Given the description of an element on the screen output the (x, y) to click on. 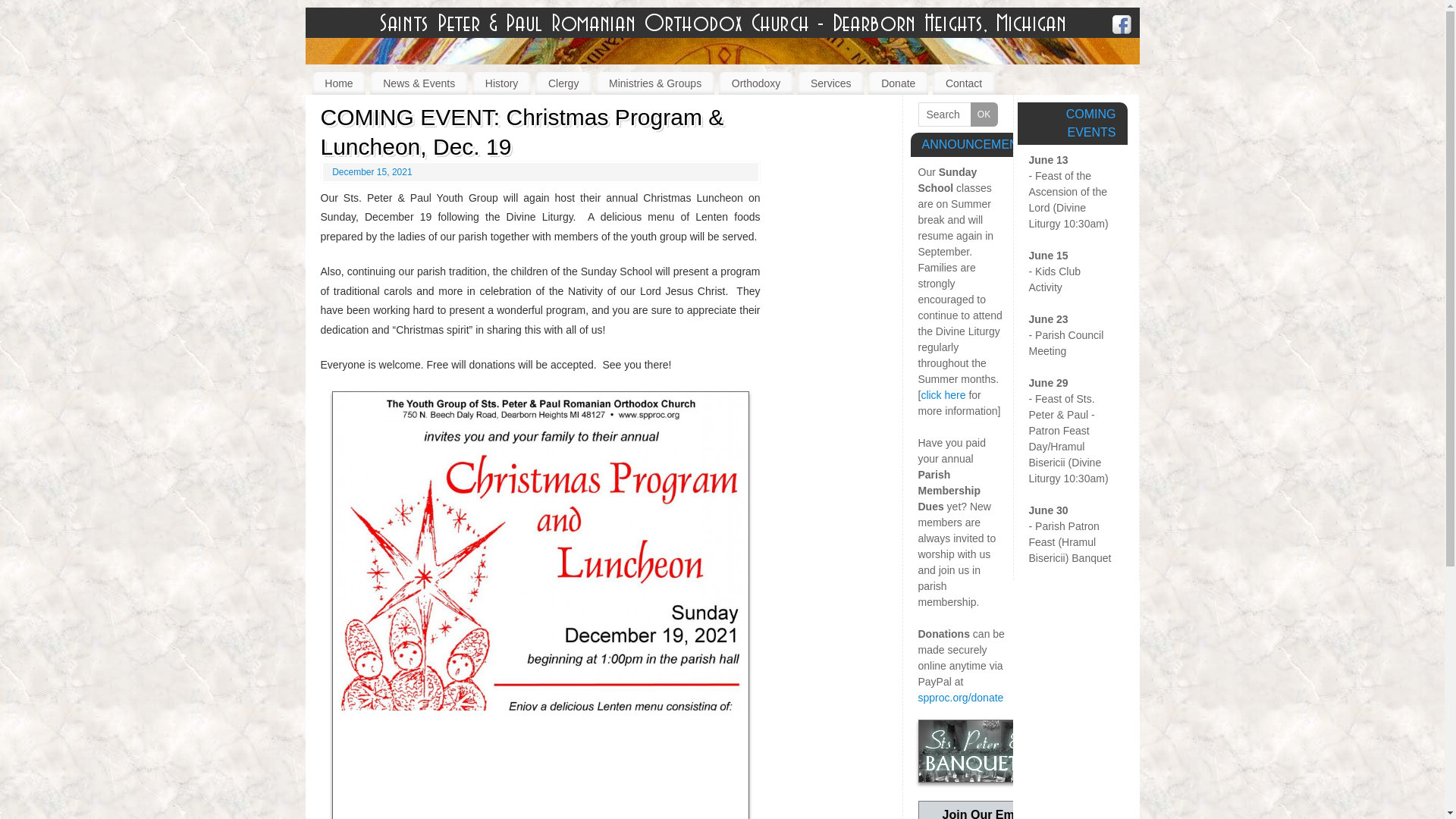
December 15, 2021 (371, 172)
Search (957, 114)
Services (830, 83)
OK (984, 114)
History (501, 83)
Home (339, 83)
Contact (963, 83)
Orthodoxy (756, 83)
Donate (897, 83)
Clergy (563, 83)
